Given the description of an element on the screen output the (x, y) to click on. 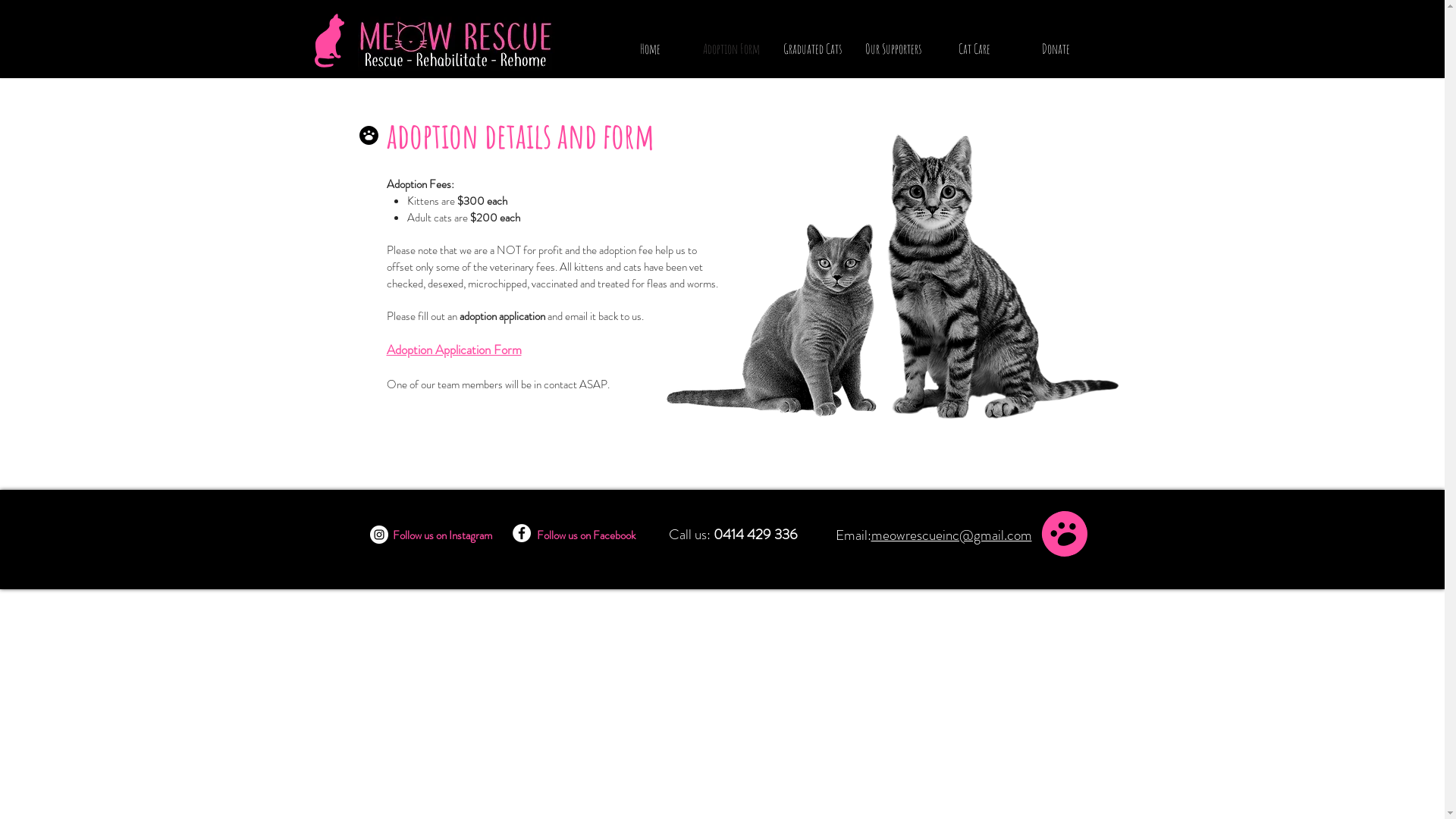
Cat Care Element type: text (974, 48)
Our Supporters Element type: text (892, 48)
Adoption Form Element type: text (730, 48)
Graduated Cats Element type: text (812, 48)
Home Element type: text (649, 48)
Donate Element type: text (1054, 48)
Adoption Application Form Element type: text (453, 349)
meowrescueinc@gmail.com Element type: text (950, 534)
